Given the description of an element on the screen output the (x, y) to click on. 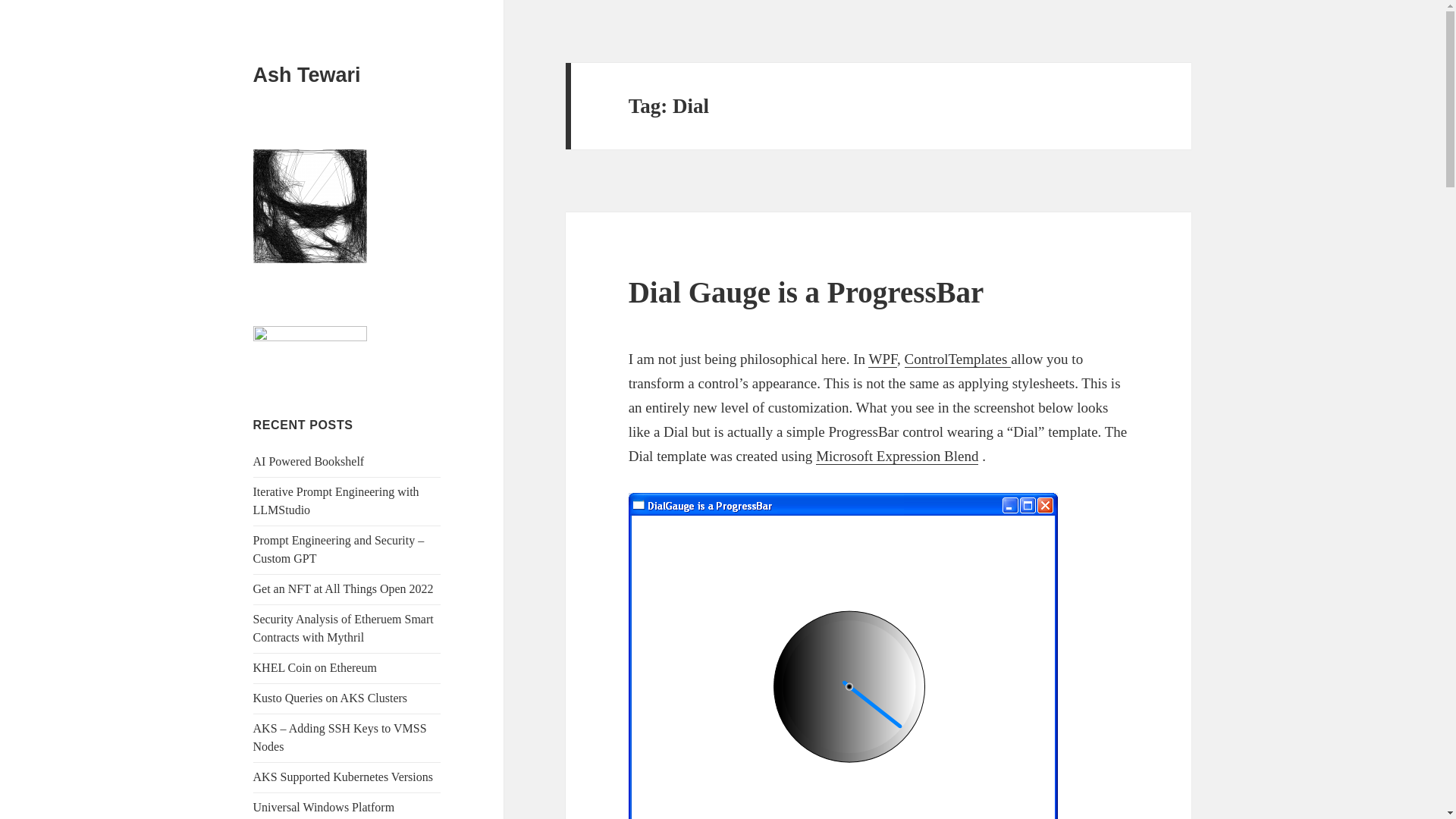
AKS Supported Kubernetes Versions (342, 776)
Ash Tewari (307, 74)
Get an NFT at All Things Open 2022 (343, 588)
Microsoft-Expression-Blend (896, 456)
AI Powered Bookshelf (309, 461)
Security Analysis of Etheruem Smart Contracts with Mythril (343, 627)
Using Templates to Customize WPF Controls (957, 359)
MSDN-WPF (881, 359)
KHEL Coin on Ethereum (315, 667)
Kusto Queries on AKS Clusters (330, 697)
Iterative Prompt Engineering with LLMStudio (336, 500)
Universal Windows Platform Application on Raspberry Pi (323, 809)
